Given the description of an element on the screen output the (x, y) to click on. 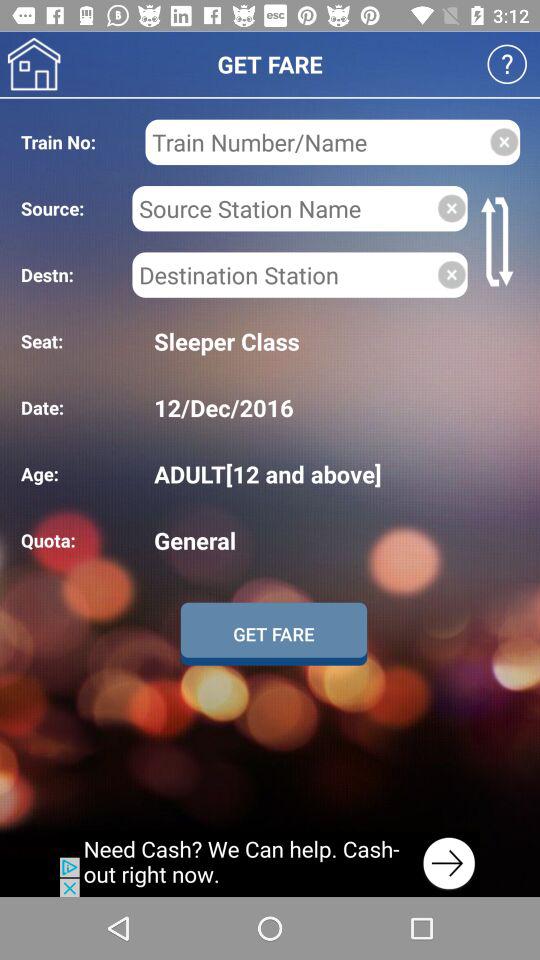
search name box (284, 208)
